Given the description of an element on the screen output the (x, y) to click on. 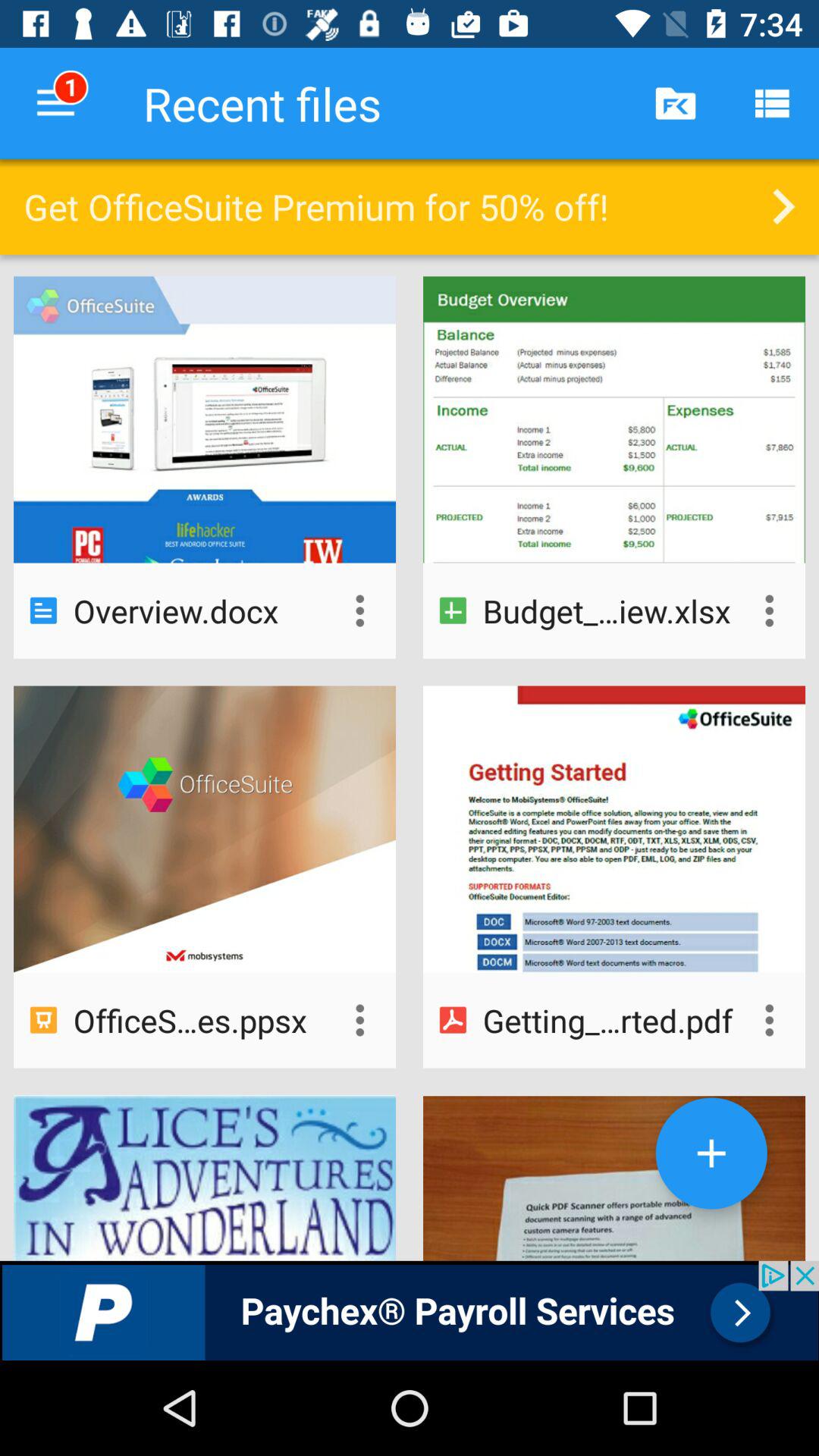
options (359, 610)
